Given the description of an element on the screen output the (x, y) to click on. 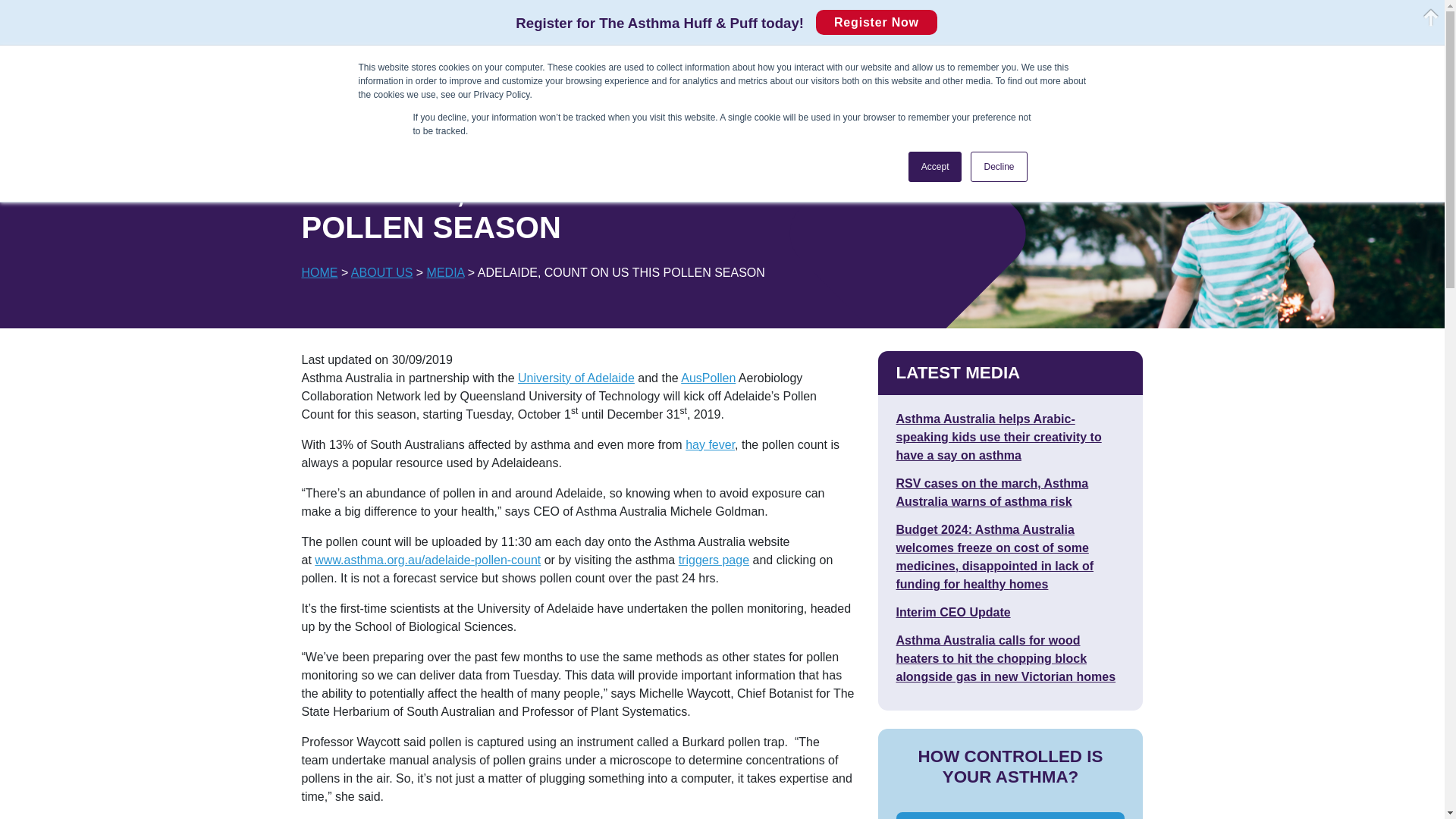
MANAGE ASTHMA (660, 116)
Shop (284, 68)
Treatment (483, 116)
RESOURCES (650, 68)
Resources (650, 68)
Decline (998, 166)
TREATMENT (483, 116)
SHOP (284, 68)
Accept (935, 166)
Asthma Info (322, 116)
ASTHMA INFO (322, 116)
1800 278 462 (1175, 68)
Health Professionals (452, 68)
SUPPORT (827, 116)
HEALTH PROFESSIONALS (452, 68)
